Given the description of an element on the screen output the (x, y) to click on. 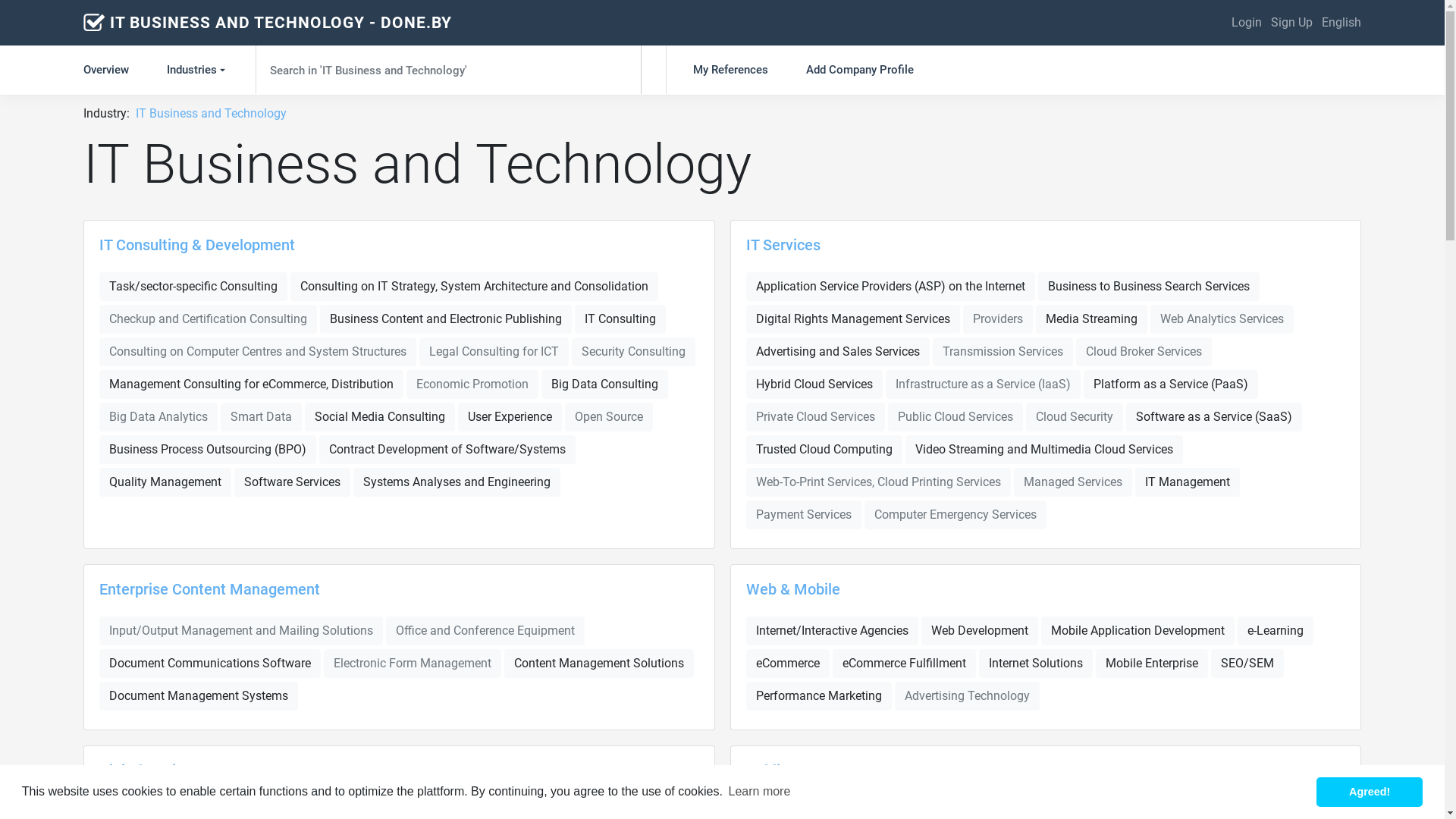
Document Communications Software Element type: text (209, 663)
Task/sector-specific Consulting Element type: text (193, 286)
English Element type: text (1341, 22)
Advertising and Sales Services Element type: text (837, 351)
Software as a Service (SaaS) Element type: text (1213, 416)
Media Streaming Element type: text (1091, 318)
Business Process Outsourcing (BPO) Element type: text (207, 449)
Transmission Services Element type: text (1002, 351)
Economic Promotion Element type: text (472, 384)
Web-To-Print Services, Cloud Printing Services Element type: text (878, 481)
Management Consulting for eCommerce, Distribution Element type: text (251, 384)
Contract Development of Software/Systems Element type: text (447, 449)
Add Company Profile Element type: text (859, 69)
Payment Services Element type: text (803, 514)
IT Services Element type: text (783, 244)
IT Consulting Element type: text (619, 318)
Enterprise Content Management Element type: text (209, 589)
Private Cloud Services Element type: text (815, 416)
Public Sector Element type: text (790, 770)
IT BUSINESS AND TECHNOLOGY - DONE.BY Element type: text (280, 22)
Software Services Element type: text (292, 481)
Big Data Consulting Element type: text (604, 384)
Mobile Enterprise Element type: text (1151, 663)
Infrastructure as a Service (IaaS) Element type: text (982, 384)
Industries Element type: text (197, 69)
Sign Up Element type: text (1291, 22)
Application Service Providers (ASP) on the Internet Element type: text (890, 286)
Invite to Beta Element type: text (1363, 799)
Performance Marketing Element type: text (818, 695)
Video Streaming and Multimedia Cloud Services Element type: text (1044, 449)
Digital Business & ERP Element type: text (175, 770)
eCommerce Fulfillment Element type: text (903, 663)
Web Analytics Services Element type: text (1220, 318)
Web Development Element type: text (978, 630)
Open Source Element type: text (608, 416)
Cloud Security Element type: text (1073, 416)
Advertising Technology Element type: text (966, 695)
Document Management Systems Element type: text (198, 695)
Systems Analyses and Engineering Element type: text (456, 481)
IT Consulting & Development Element type: text (196, 244)
Legal Consulting for ICT Element type: text (493, 351)
Business to Business Search Services Element type: text (1147, 286)
Trusted Cloud Computing Element type: text (824, 449)
Learn more Element type: text (758, 791)
Smart Data Element type: text (260, 416)
IT Management Element type: text (1186, 481)
Internet Solutions Element type: text (1035, 663)
Agreed! Element type: text (1369, 791)
Computer Emergency Services Element type: text (955, 514)
Input/Output Management and Mailing Solutions Element type: text (240, 630)
Security Consulting Element type: text (633, 351)
Mobile Application Development Element type: text (1136, 630)
Big Data Analytics Element type: text (158, 416)
Quality Management Element type: text (165, 481)
Platform as a Service (PaaS) Element type: text (1169, 384)
Checkup and Certification Consulting Element type: text (207, 318)
Hybrid Cloud Services Element type: text (814, 384)
Consulting on Computer Centres and System Structures Element type: text (257, 351)
Business Content and Electronic Publishing Element type: text (445, 318)
User Experience Element type: text (509, 416)
Internet/Interactive Agencies Element type: text (832, 630)
Office and Conference Equipment Element type: text (484, 630)
Overview Element type: text (115, 69)
Public Cloud Services Element type: text (954, 416)
SEO/SEM Element type: text (1246, 663)
e-Learning Element type: text (1275, 630)
My References Element type: text (730, 69)
Managed Services Element type: text (1072, 481)
Web & Mobile Element type: text (793, 589)
IT Business and Technology Element type: text (210, 113)
eCommerce Element type: text (787, 663)
Electronic Form Management Element type: text (412, 663)
Social Media Consulting Element type: text (379, 416)
Content Management Solutions Element type: text (598, 663)
Digital Rights Management Services Element type: text (853, 318)
Login Element type: text (1246, 22)
Cloud Broker Services Element type: text (1143, 351)
Providers Element type: text (997, 318)
